Given the description of an element on the screen output the (x, y) to click on. 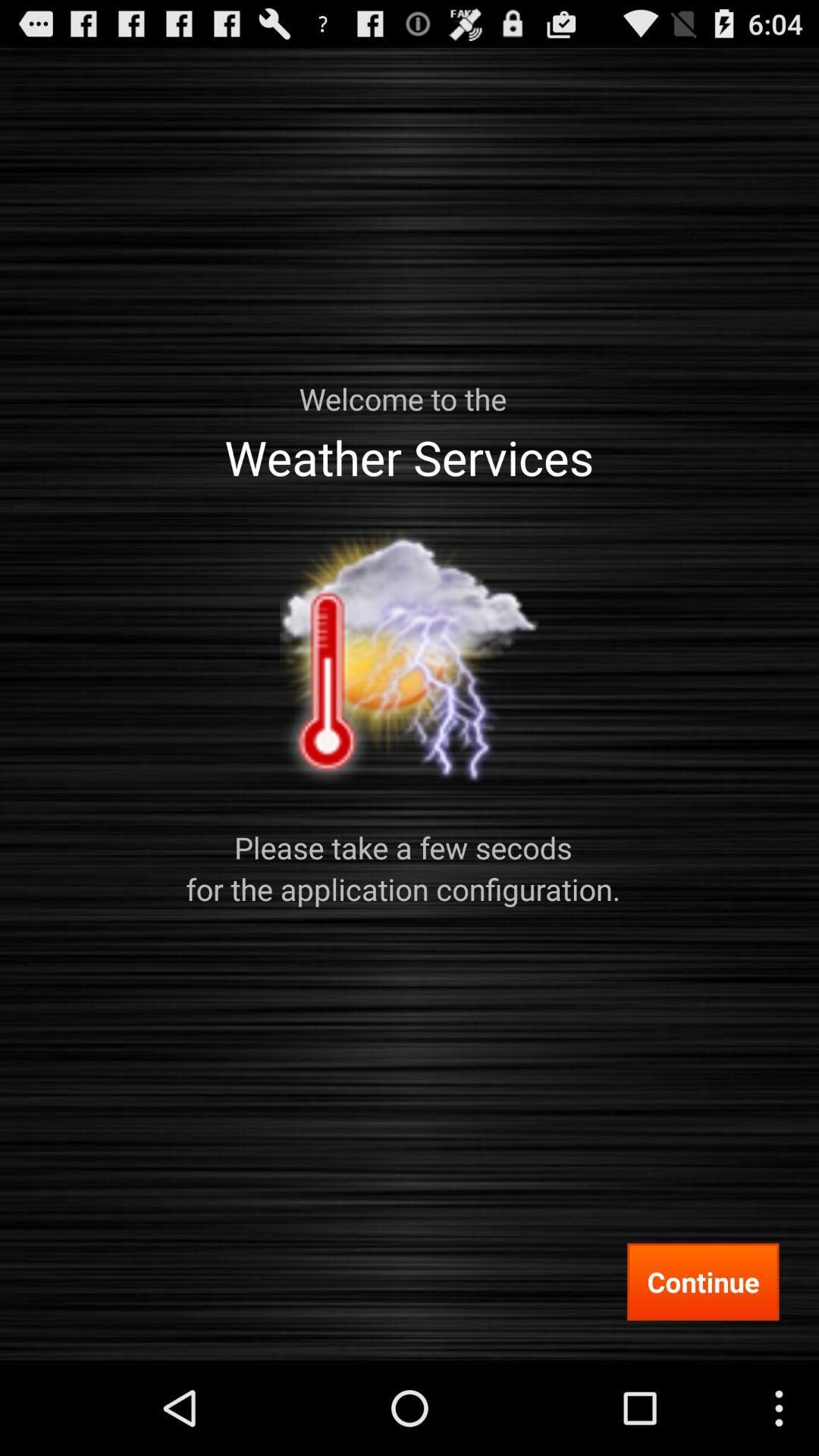
jump to continue icon (703, 1281)
